Given the description of an element on the screen output the (x, y) to click on. 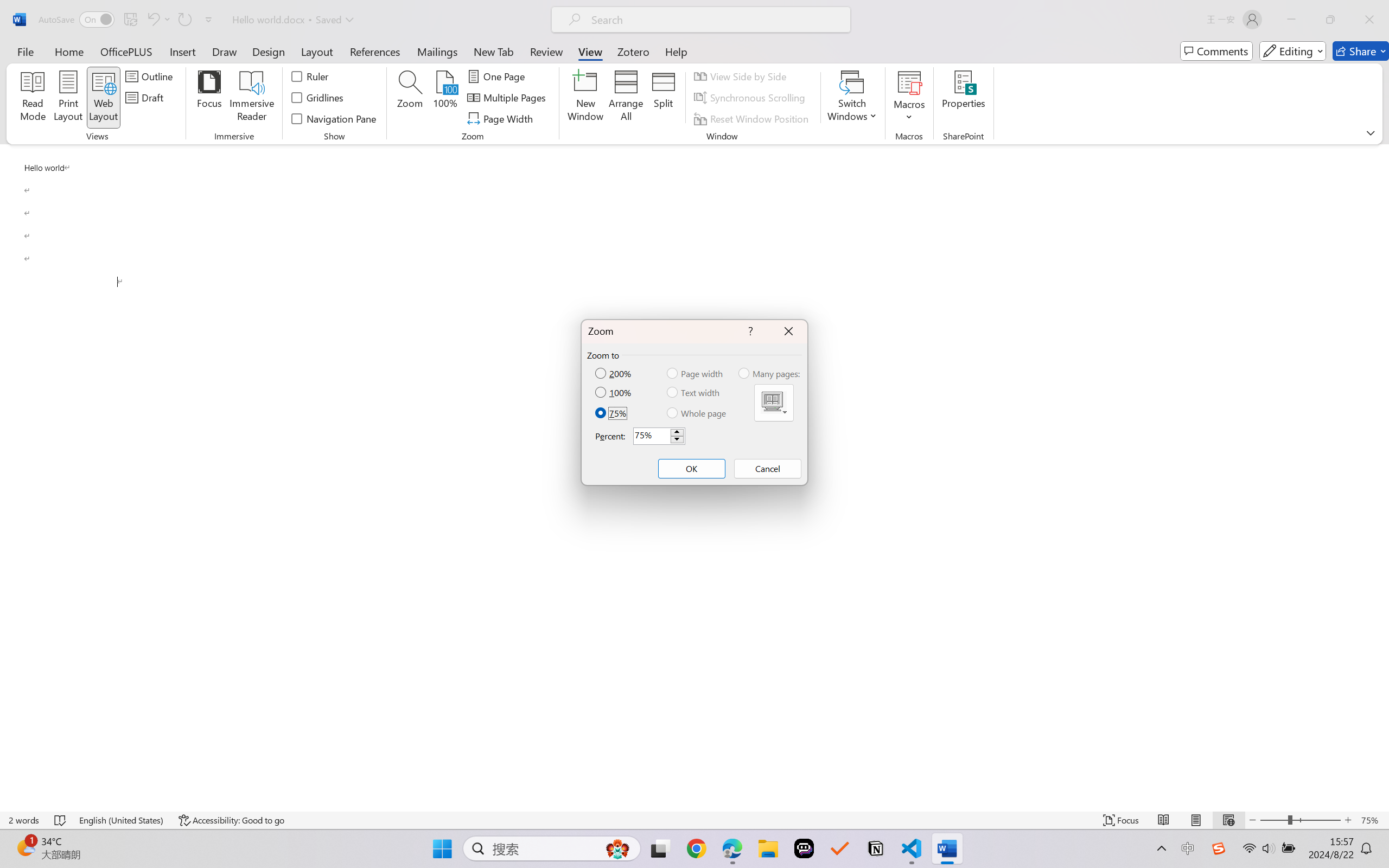
Gridlines (317, 97)
Cancel (767, 468)
Draft (146, 97)
Focus (209, 97)
Help (675, 51)
Accessibility Checker Accessibility: Good to go (231, 819)
Minimize (1291, 19)
Restore Down (1330, 19)
New Window (585, 97)
Google Chrome (696, 848)
Save (130, 19)
